Given the description of an element on the screen output the (x, y) to click on. 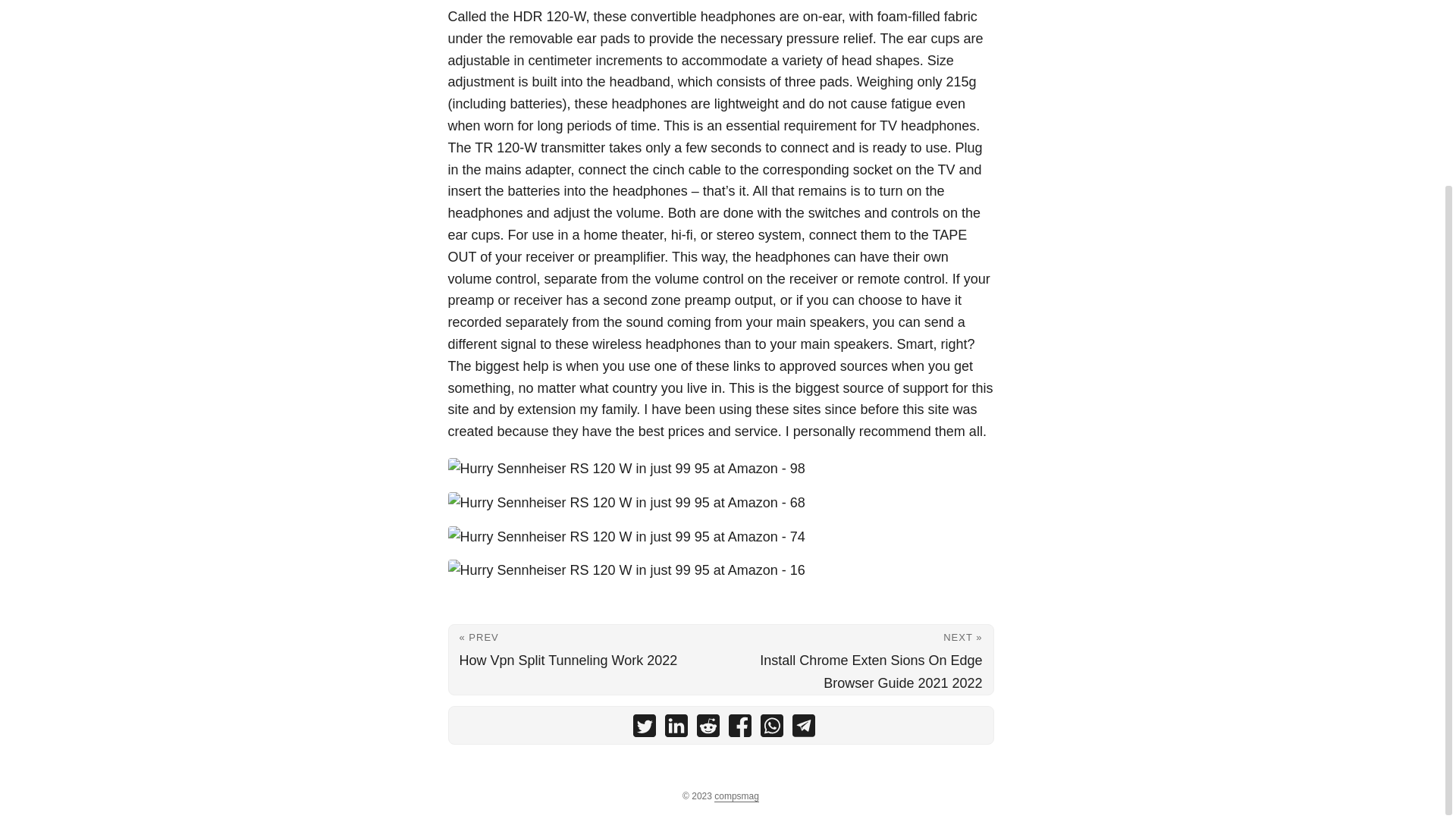
compsmag (736, 796)
